Given the description of an element on the screen output the (x, y) to click on. 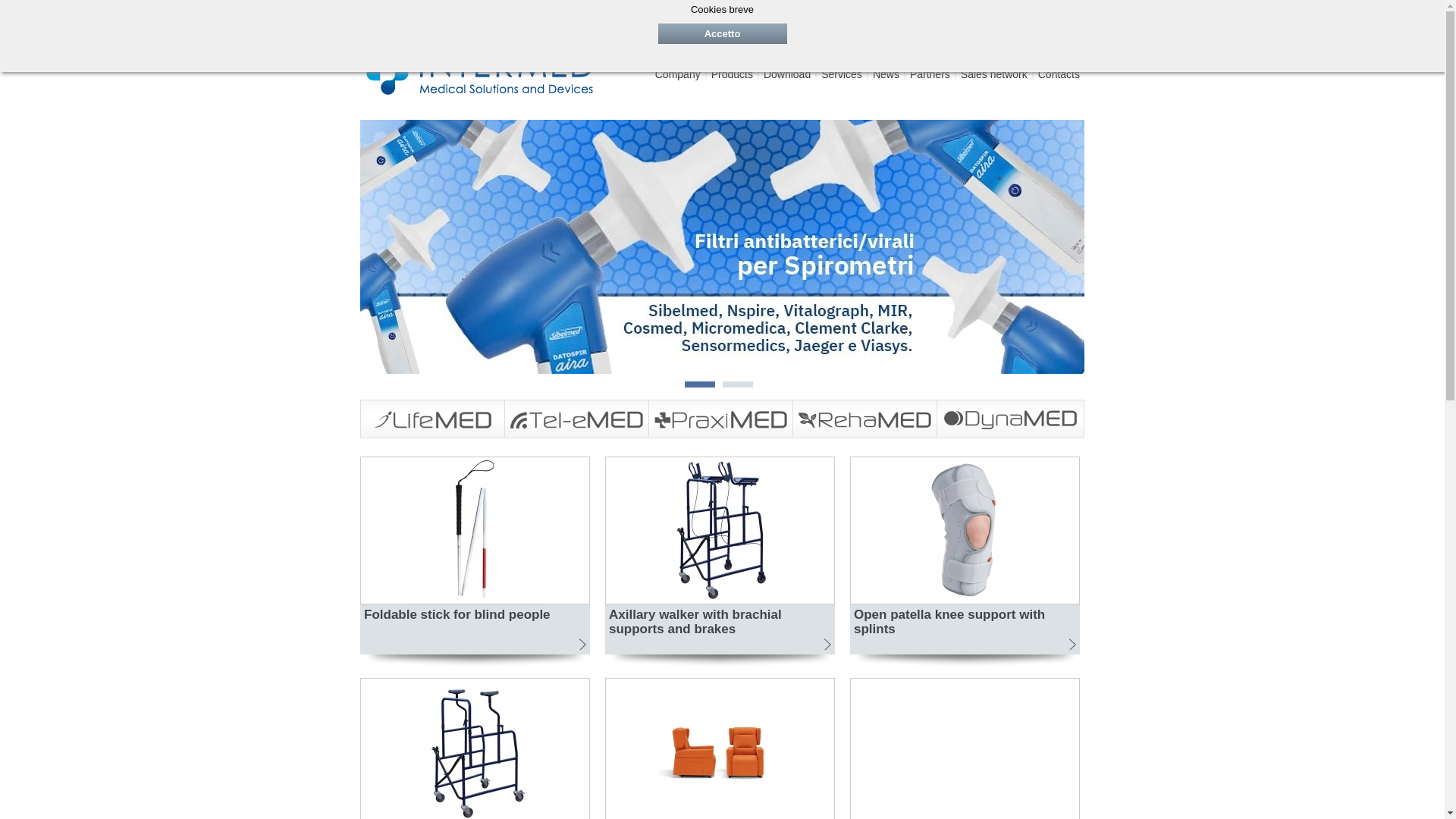
LinkedIn (431, 15)
Axillary walker with brachial supports and brakes (719, 530)
Axillary walker with brachial supports and brakes (719, 561)
Professional use Bluetooth fingertip pulse oximeter (965, 748)
Sales network (994, 74)
Axillary walker (474, 748)
Foldable stick for blind people (964, 530)
Company (474, 561)
Open patella knee support with splints (677, 74)
Foldable stick for blind people (965, 561)
Facebook (474, 530)
Contacts (482, 15)
Search (1058, 74)
News (1022, 15)
